Given the description of an element on the screen output the (x, y) to click on. 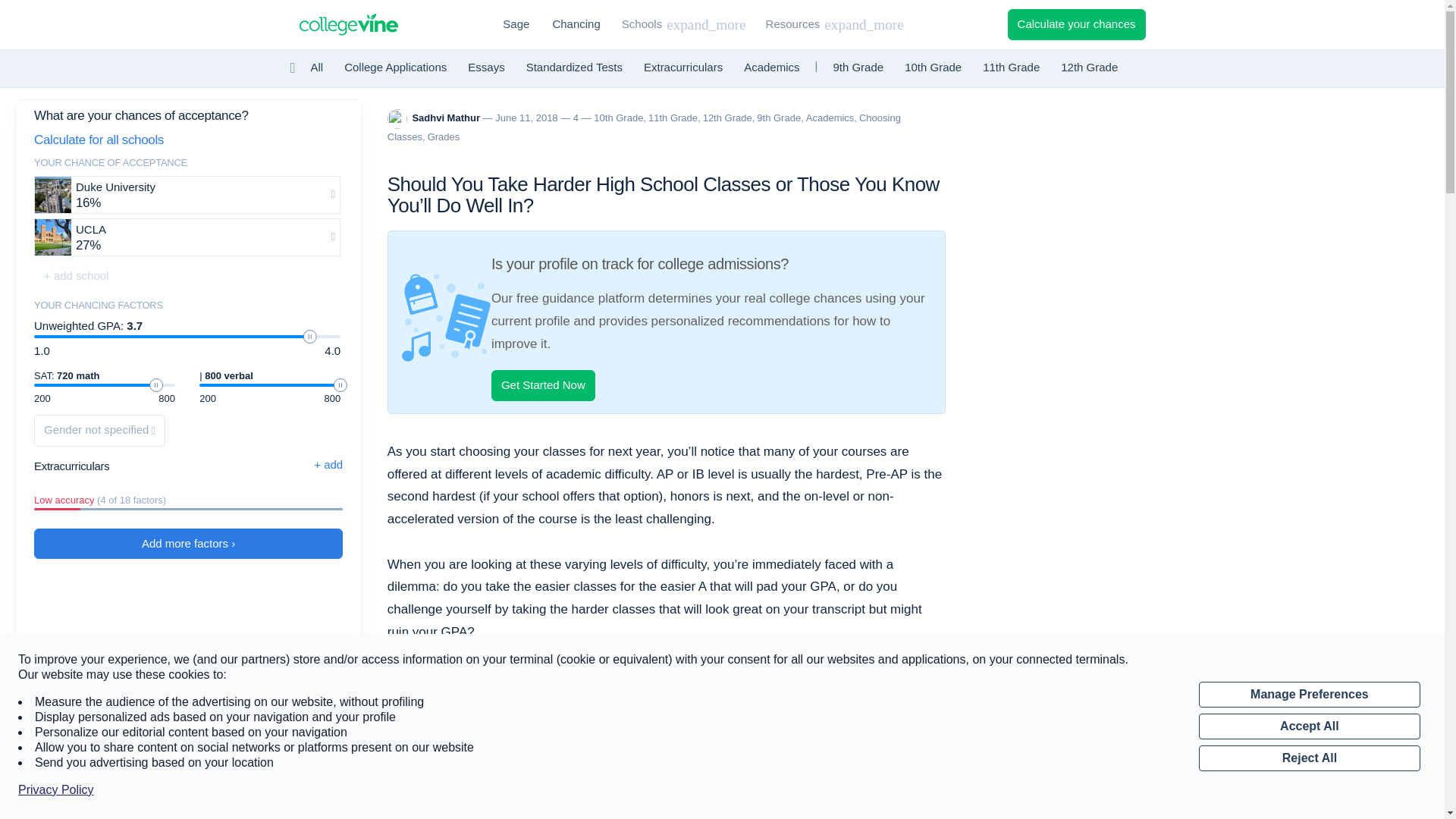
Gender not specified (99, 429)
Essays (486, 67)
Calculate your chances (1076, 24)
College Applications (394, 67)
Reject All (1309, 758)
Calculate for all schools (186, 140)
10th Grade (933, 67)
Chancing (575, 24)
Sage (515, 24)
11th Grade (1010, 67)
